Given the description of an element on the screen output the (x, y) to click on. 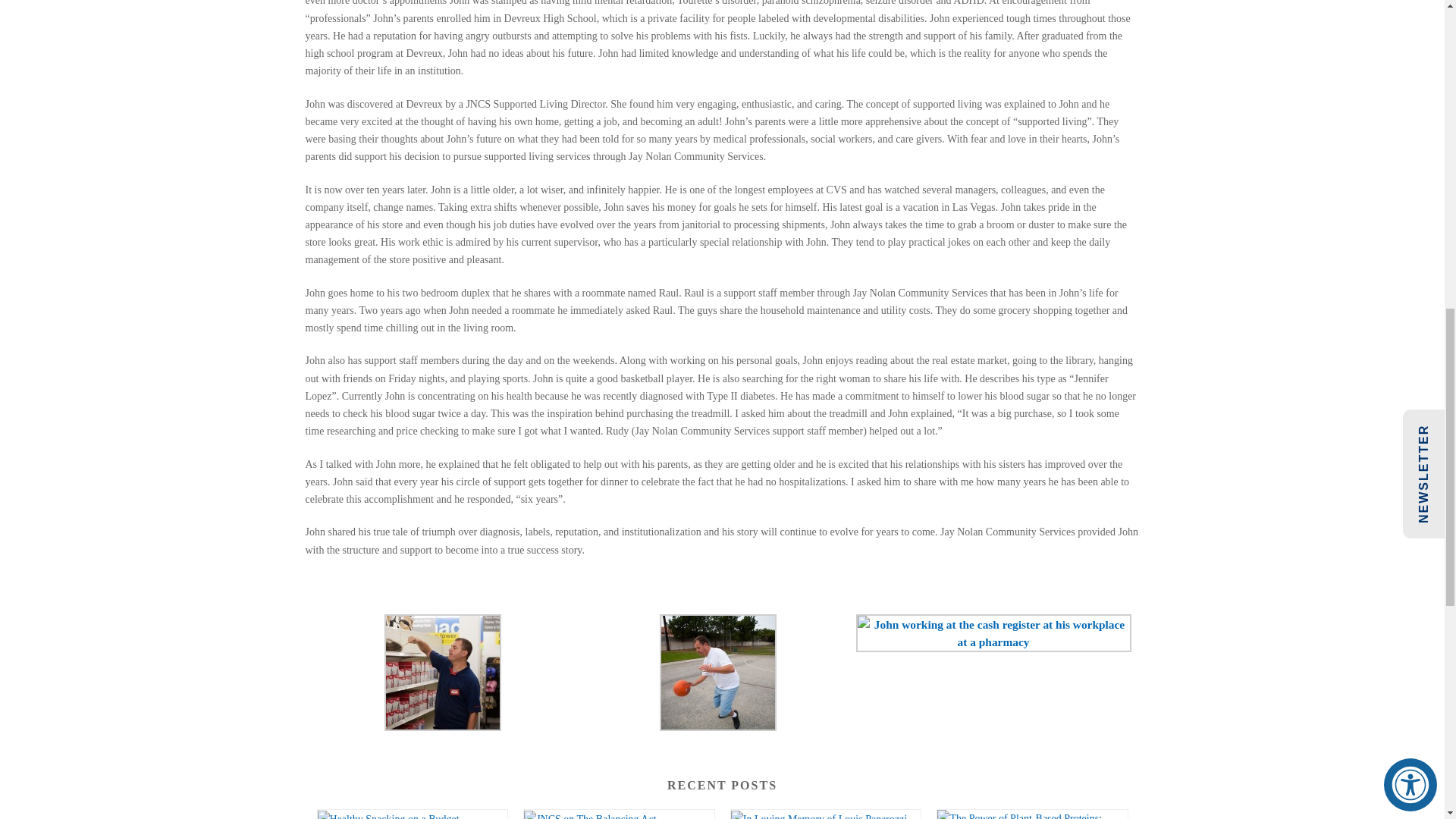
Healthy Snacking on a Budget (411, 814)
In Loving Memory of Louis Paparozzi (825, 814)
JNCS on The Balancing Act (619, 814)
